Given the description of an element on the screen output the (x, y) to click on. 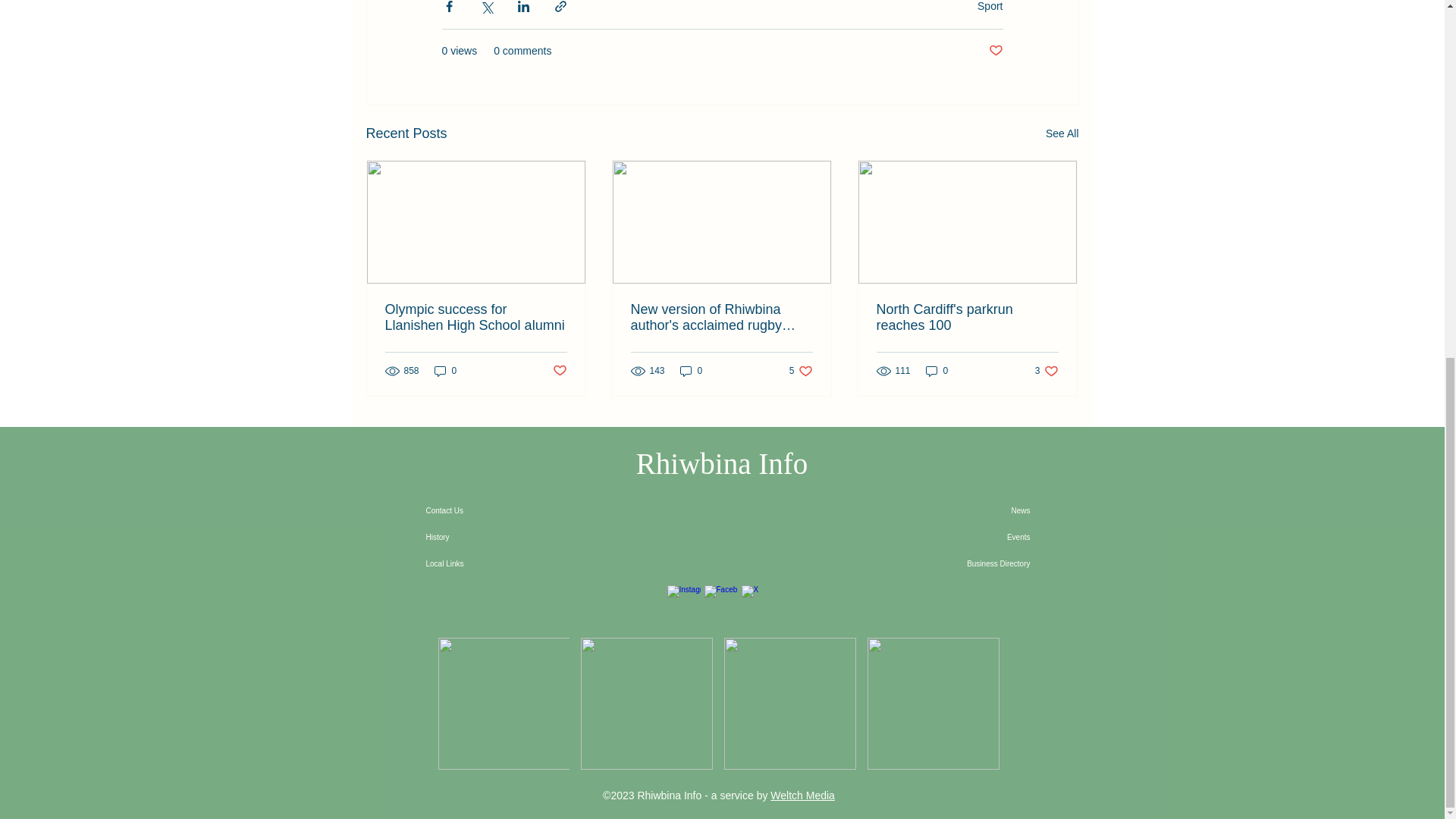
Post not marked as liked (558, 371)
Sport (989, 5)
0 (445, 370)
New version of Rhiwbina author's acclaimed rugby book (721, 317)
Olympic success for Llanishen High School alumni (476, 317)
0 (691, 370)
Post not marked as liked (995, 50)
See All (800, 370)
